Given the description of an element on the screen output the (x, y) to click on. 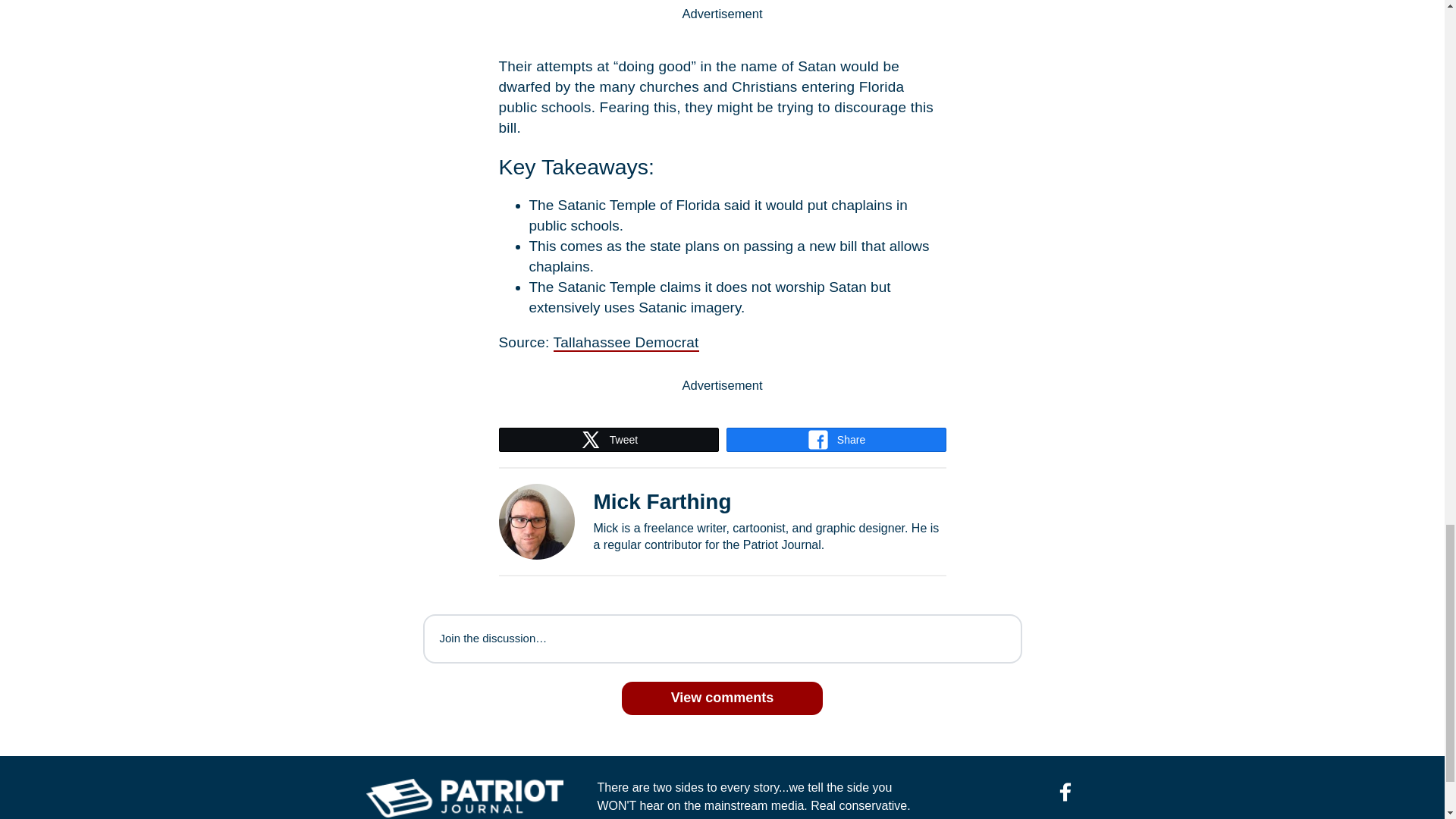
Tallahassee Democrat (625, 343)
View comments (722, 697)
Tweet (608, 439)
Share (835, 439)
